Given the description of an element on the screen output the (x, y) to click on. 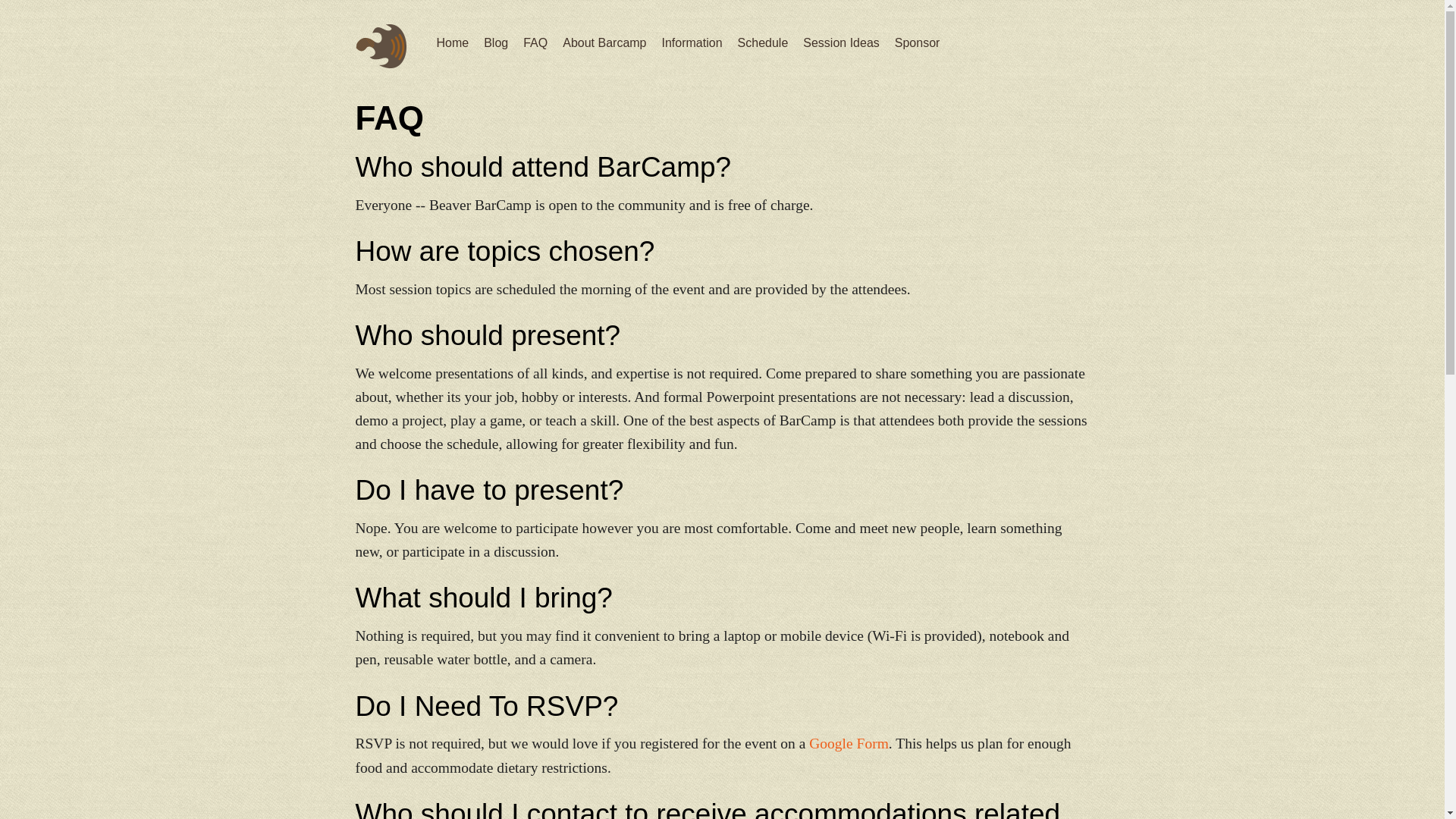
Blog (495, 42)
Session Ideas (841, 42)
About Barcamp (604, 42)
FAQ (534, 42)
Google Form (848, 743)
Schedule (763, 42)
Home (452, 42)
Information (692, 42)
Sponsor (917, 42)
